Given the description of an element on the screen output the (x, y) to click on. 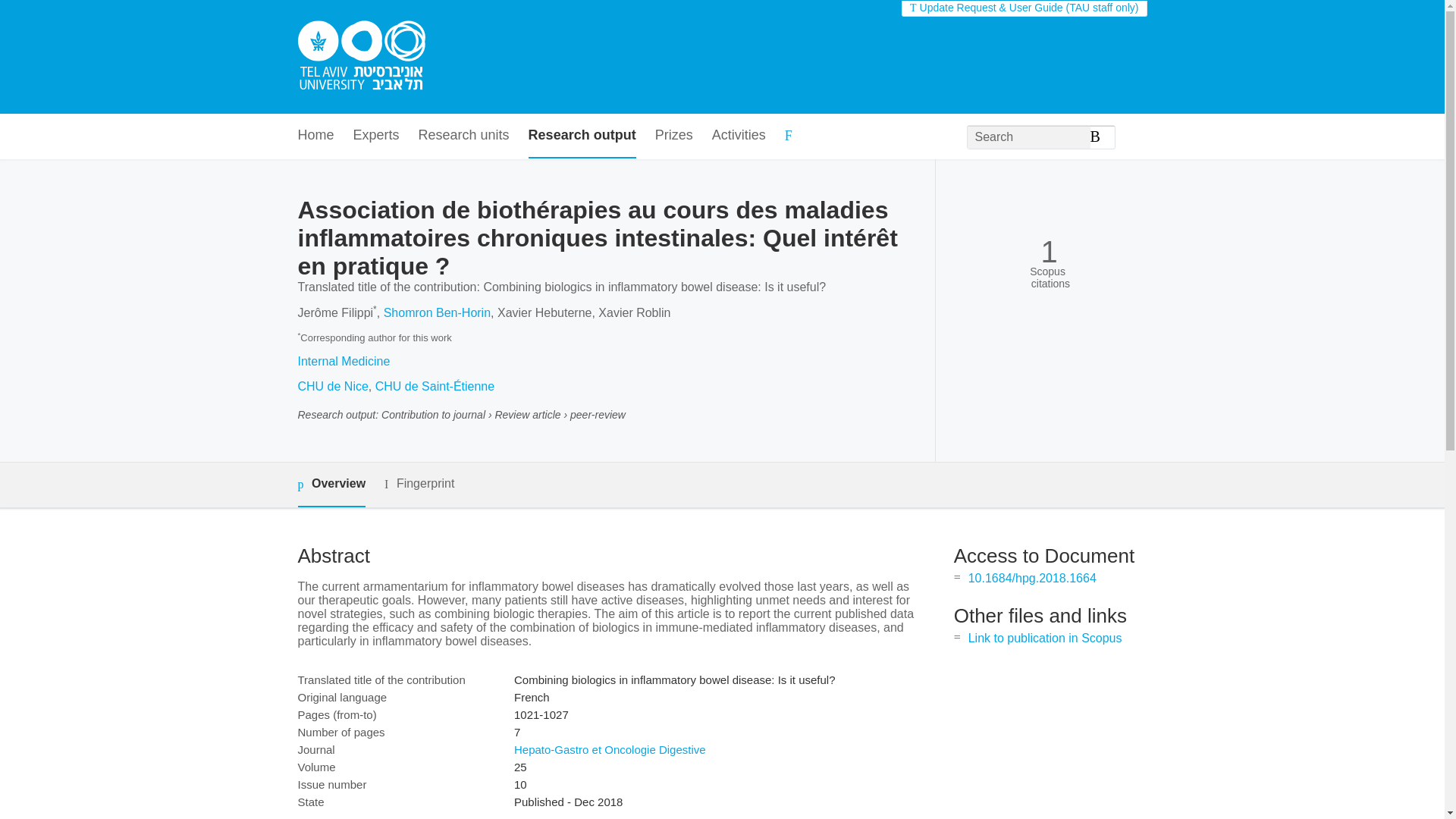
Tel Aviv University Home (361, 56)
Research units (464, 135)
Activities (738, 135)
Overview (331, 484)
Internal Medicine (343, 360)
Fingerprint (419, 484)
Shomron Ben-Horin (437, 312)
CHU de Nice (332, 386)
Link to publication in Scopus (1045, 637)
